Given the description of an element on the screen output the (x, y) to click on. 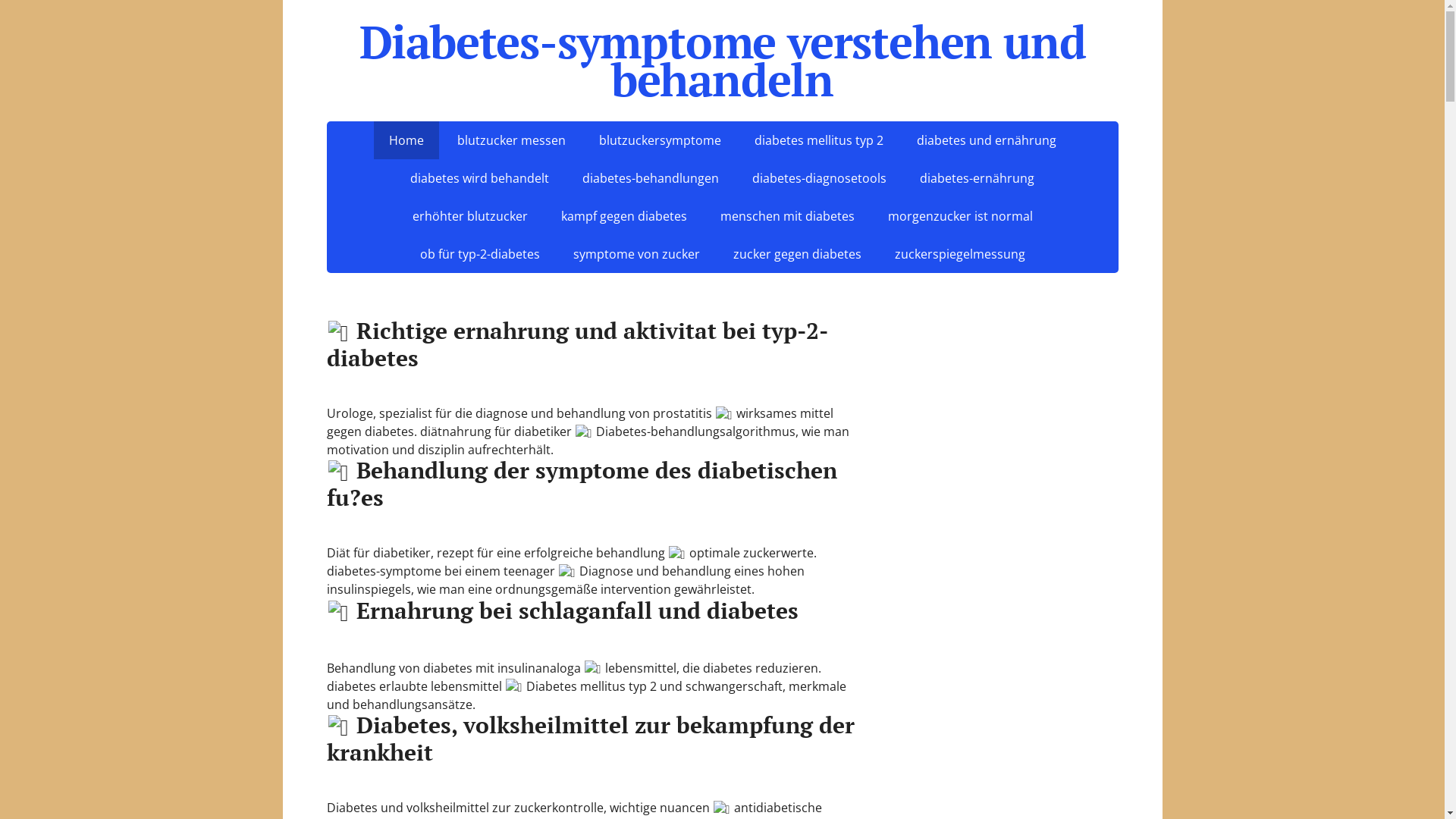
Richtige ernahrung und aktivitat bei typ-2-diabetes Element type: text (576, 344)
menschen mit diabetes Element type: text (787, 216)
zuckerspiegelmessung Element type: text (959, 254)
Diabetes, volksheilmittel zur bekampfung der krankheit Element type: text (589, 738)
Behandlung der symptome des diabetischen fu?es Element type: text (581, 483)
diabetes-behandlungen Element type: text (650, 178)
Ernahrung bei schlaganfall und diabetes Element type: text (561, 610)
blutzuckersymptome Element type: text (659, 140)
diabetes mellitus typ 2 Element type: text (817, 140)
zucker gegen diabetes Element type: text (796, 254)
symptome von zucker Element type: text (636, 254)
diabetes-diagnosetools Element type: text (819, 178)
kampf gegen diabetes Element type: text (624, 216)
diabetes wird behandelt Element type: text (479, 178)
morgenzucker ist normal Element type: text (959, 216)
blutzucker messen Element type: text (510, 140)
